Given the description of an element on the screen output the (x, y) to click on. 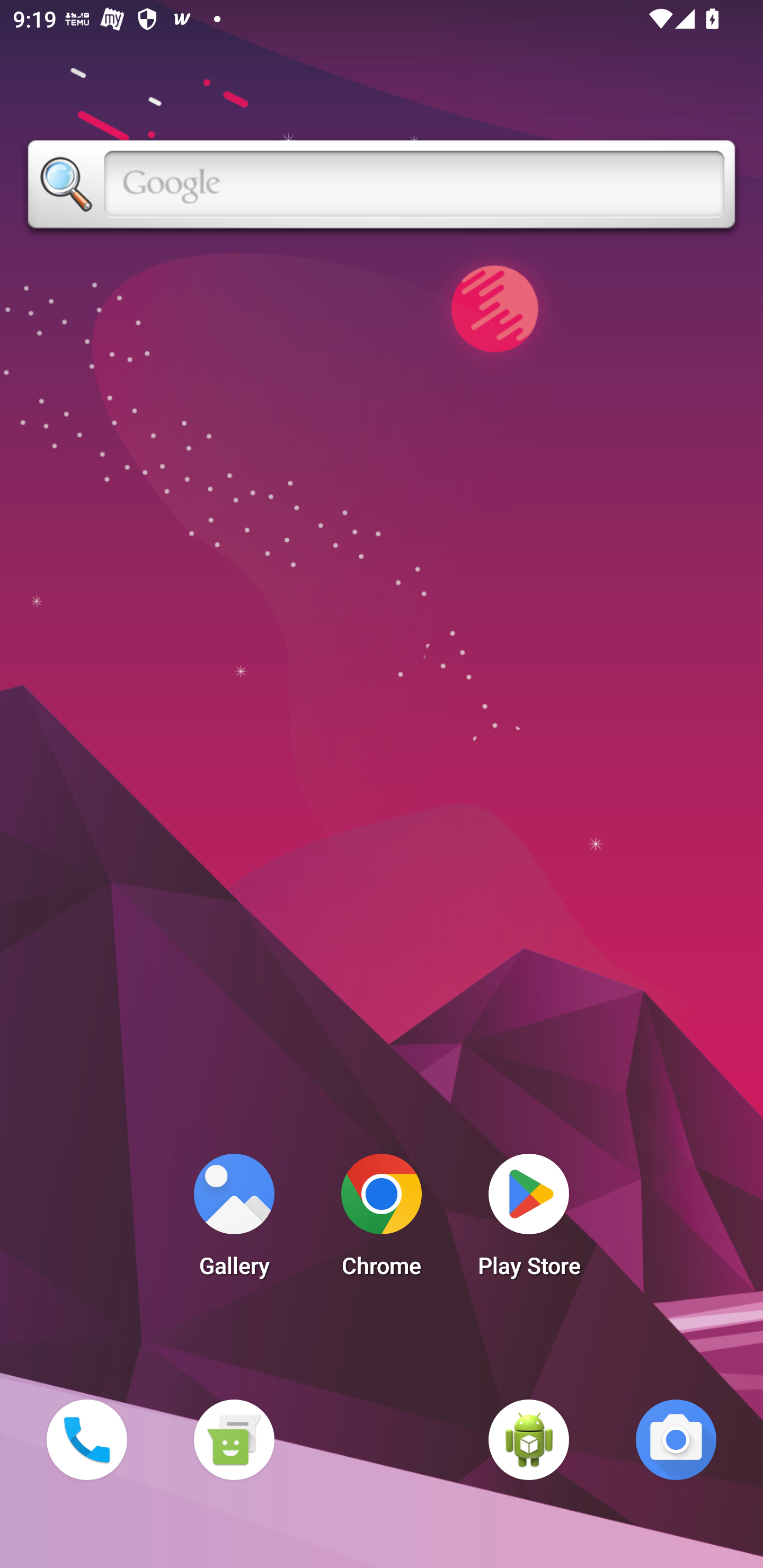
Gallery (233, 1220)
Chrome (381, 1220)
Play Store (528, 1220)
Phone (86, 1439)
Messaging (233, 1439)
WebView Browser Tester (528, 1439)
Camera (676, 1439)
